Given the description of an element on the screen output the (x, y) to click on. 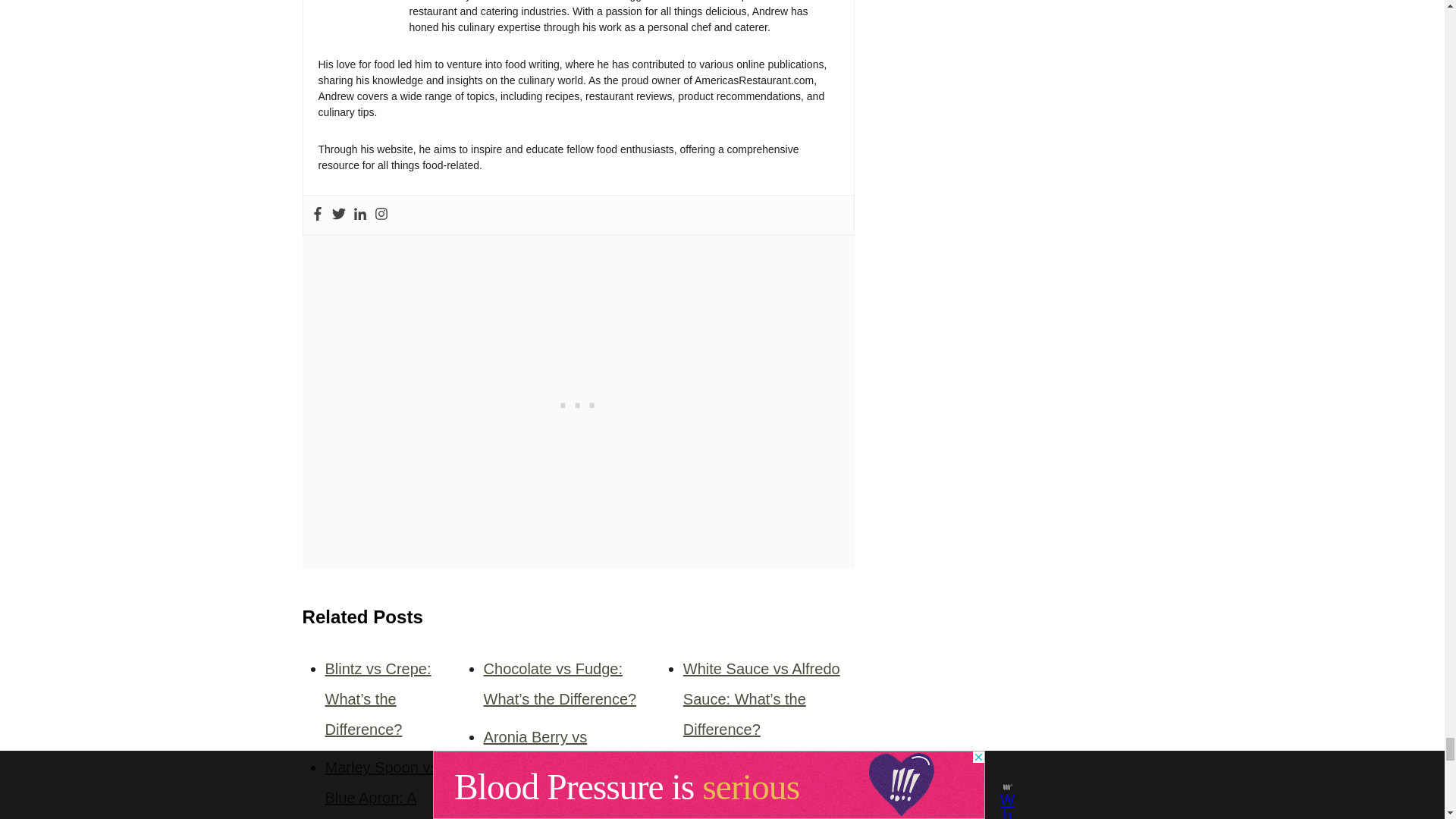
Sunchoke vs Artichoke: Which is a Better Option? (761, 789)
Marley Spoon vs Blue Apron: A Comparison (381, 789)
